Given the description of an element on the screen output the (x, y) to click on. 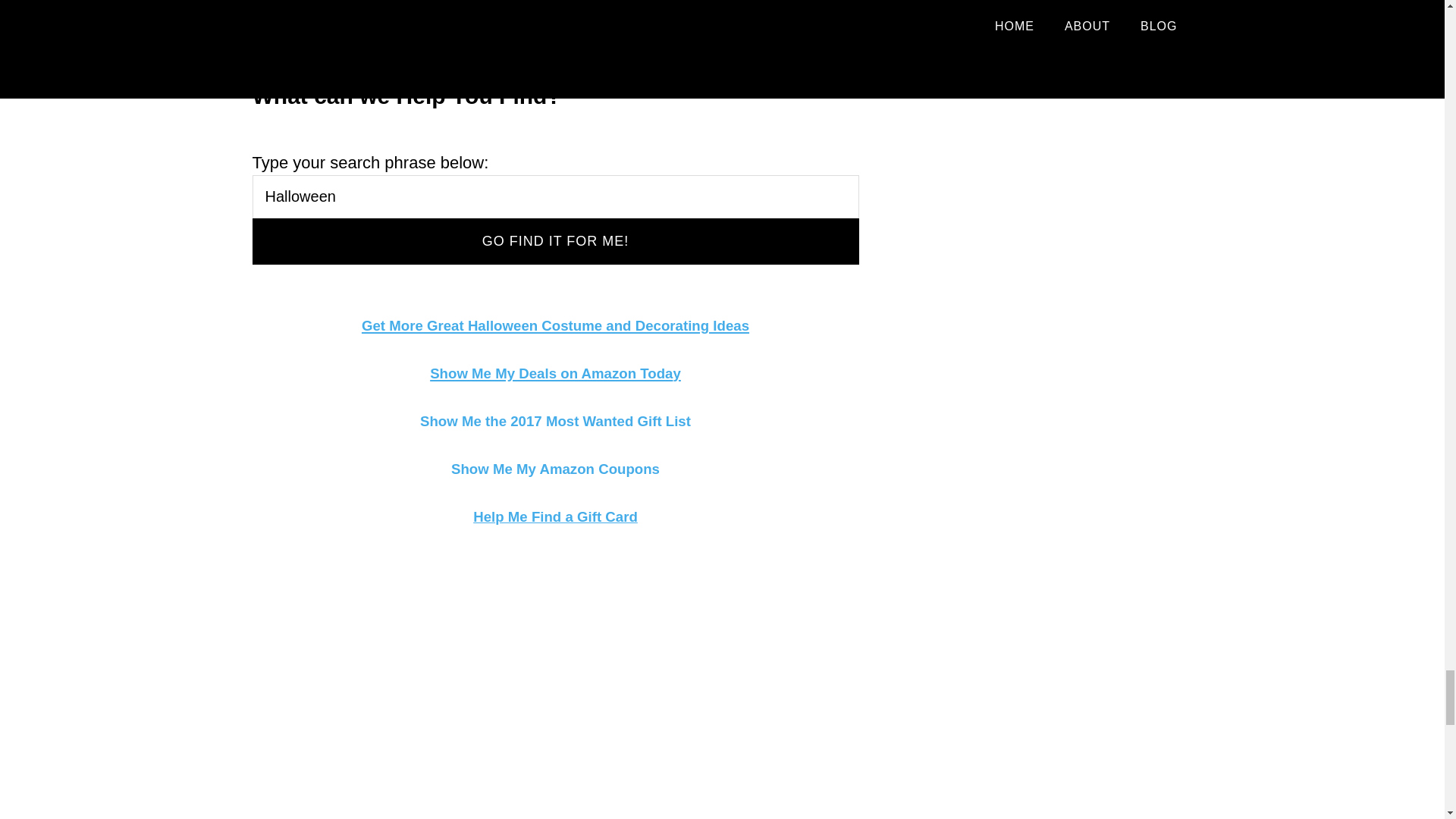
Halloween (555, 196)
Go Find It For Me! (555, 241)
